Given the description of an element on the screen output the (x, y) to click on. 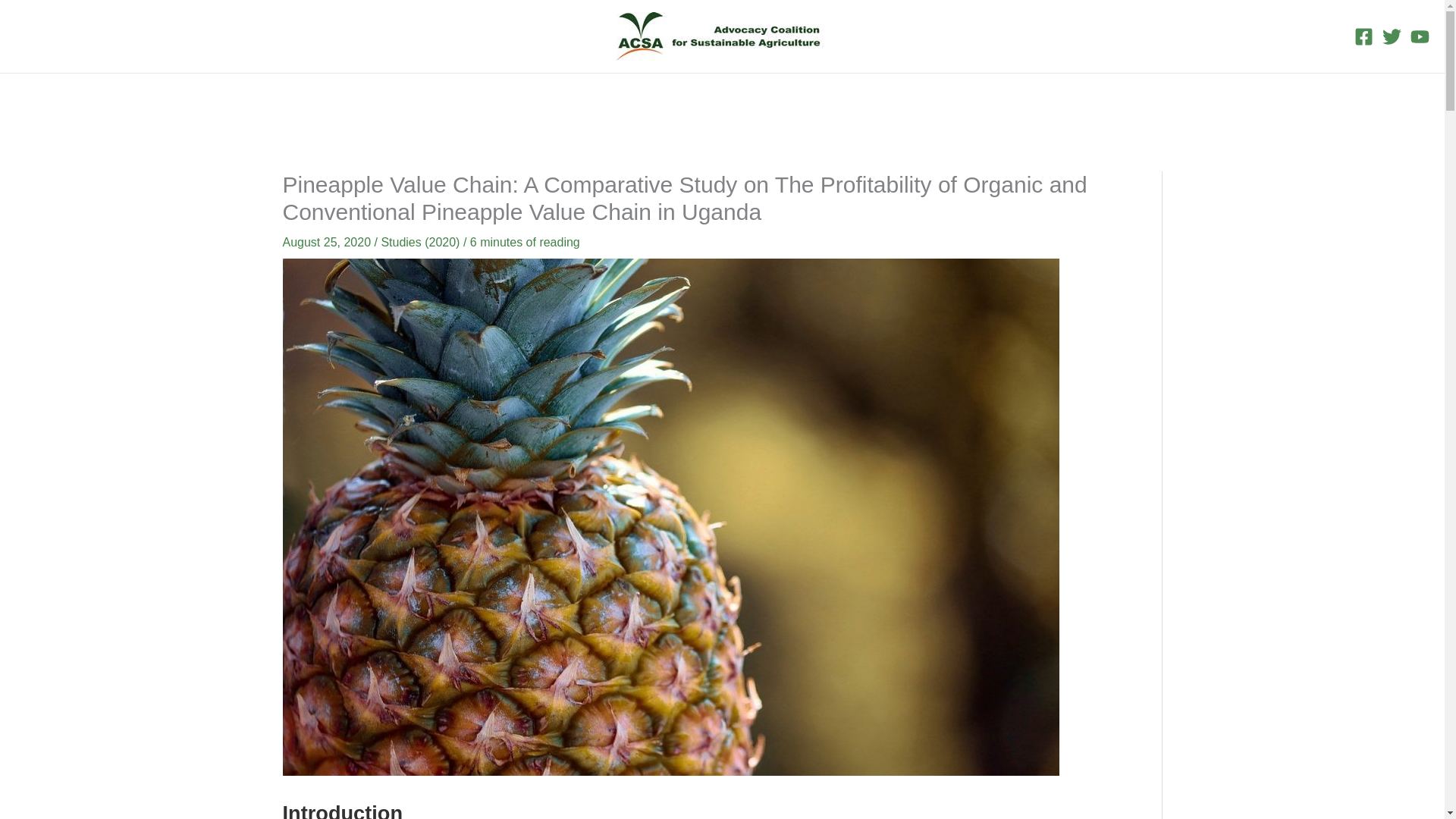
HOME (441, 97)
RESOURCES (624, 97)
CONTACT (857, 97)
BLOG (707, 97)
ABOUT US (520, 97)
OPPORTUNITIES (966, 97)
GALLERY (778, 97)
